Given the description of an element on the screen output the (x, y) to click on. 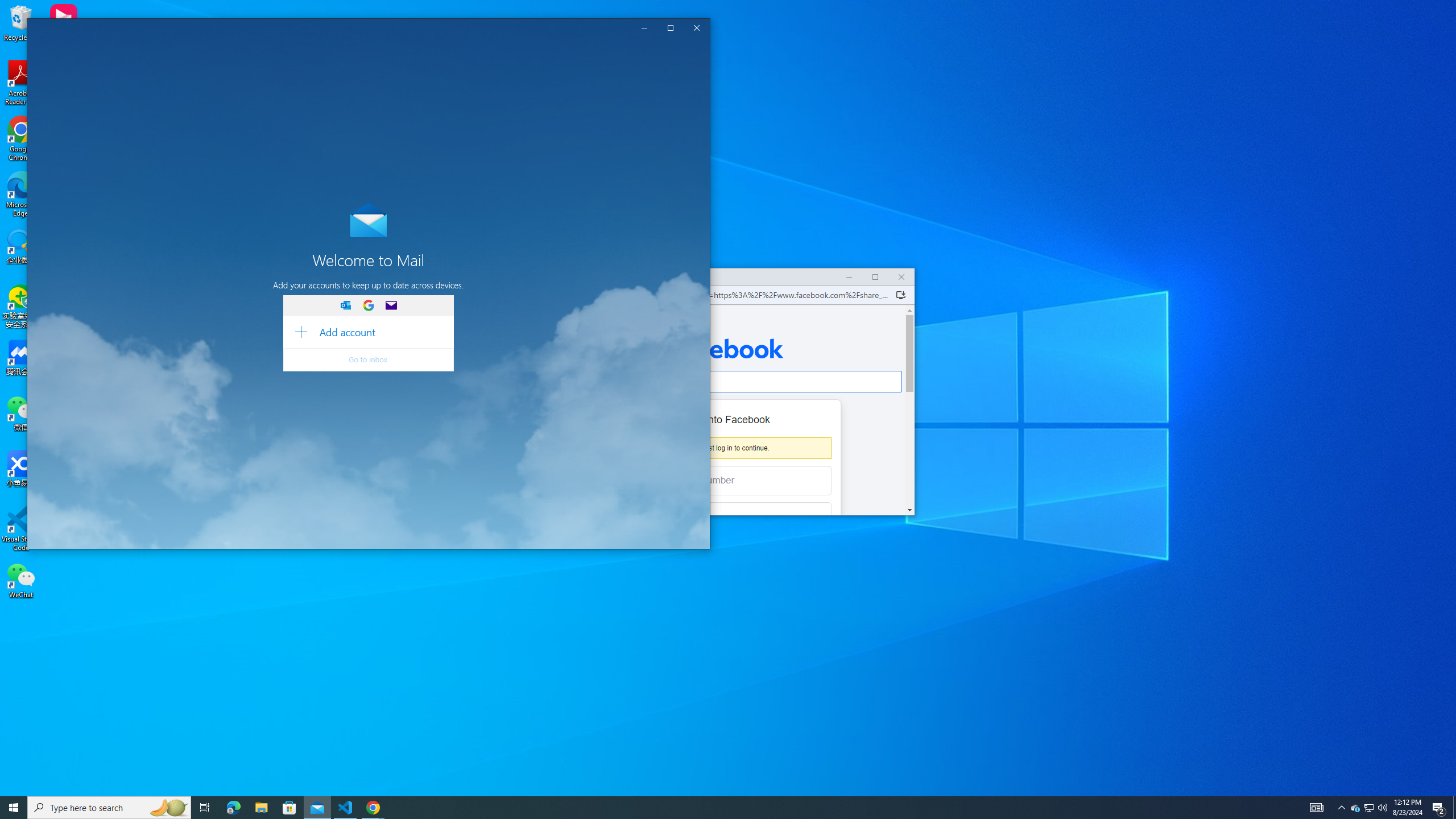
Enter selection mode (377, 82)
Filter, All (372, 110)
Type here to search (108, 807)
Folders (100, 178)
File Explorer (261, 807)
Running applications (717, 807)
Q2790: 100% (1382, 807)
New mail (100, 77)
Try the new Outlook (605, 50)
Switch to To Do (122, 534)
Manage accounts (100, 111)
